Given the description of an element on the screen output the (x, y) to click on. 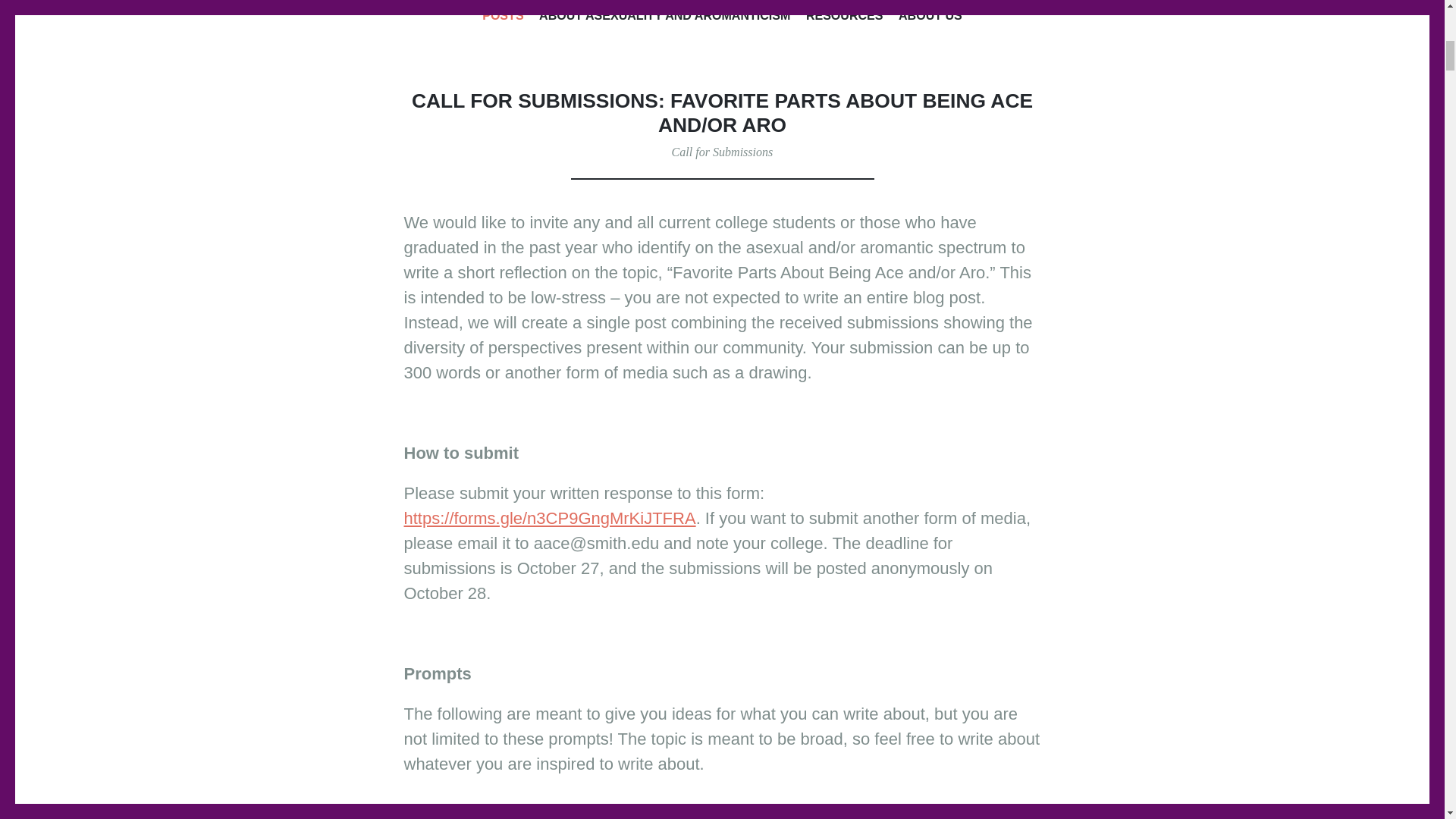
Call for Submissions (722, 151)
POSTS (501, 17)
RESOURCES (844, 17)
ABOUT US (930, 17)
ABOUT ASEXUALITY AND AROMANTICISM (664, 17)
